Given the description of an element on the screen output the (x, y) to click on. 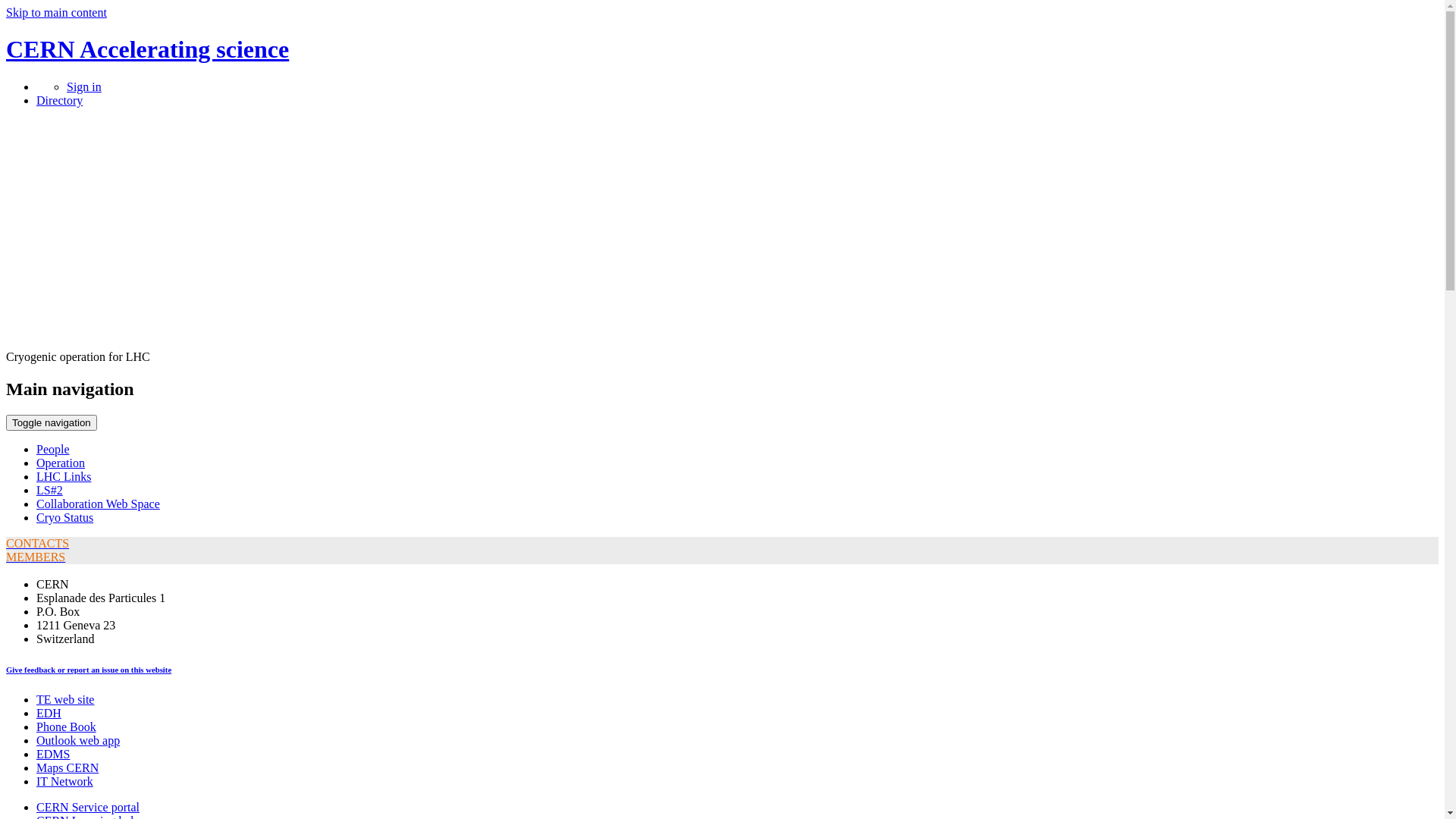
Skip to main content Element type: text (56, 12)
Home Element type: hover (119, 342)
LHC Links Element type: text (63, 476)
LS#2 Element type: text (49, 489)
IT Network Element type: text (64, 781)
Cryo Status Element type: text (64, 517)
Toggle navigation Element type: text (51, 422)
Phone Book Element type: text (66, 726)
CERN Accelerating science Element type: text (147, 48)
Maps CERN Element type: text (67, 767)
MEMBERS Element type: text (35, 556)
CERN Service portal Element type: text (87, 806)
TE web site Element type: text (65, 699)
CONTACTS Element type: text (37, 542)
Outlook web app Element type: text (77, 740)
Operation Element type: text (60, 462)
Sign in Element type: text (83, 86)
EDH Element type: text (48, 712)
Collaboration Web Space Element type: text (98, 503)
EDMS Element type: text (52, 753)
People Element type: text (52, 448)
Give feedback or report an issue on this website Element type: text (88, 669)
Directory Element type: text (59, 100)
